Given the description of an element on the screen output the (x, y) to click on. 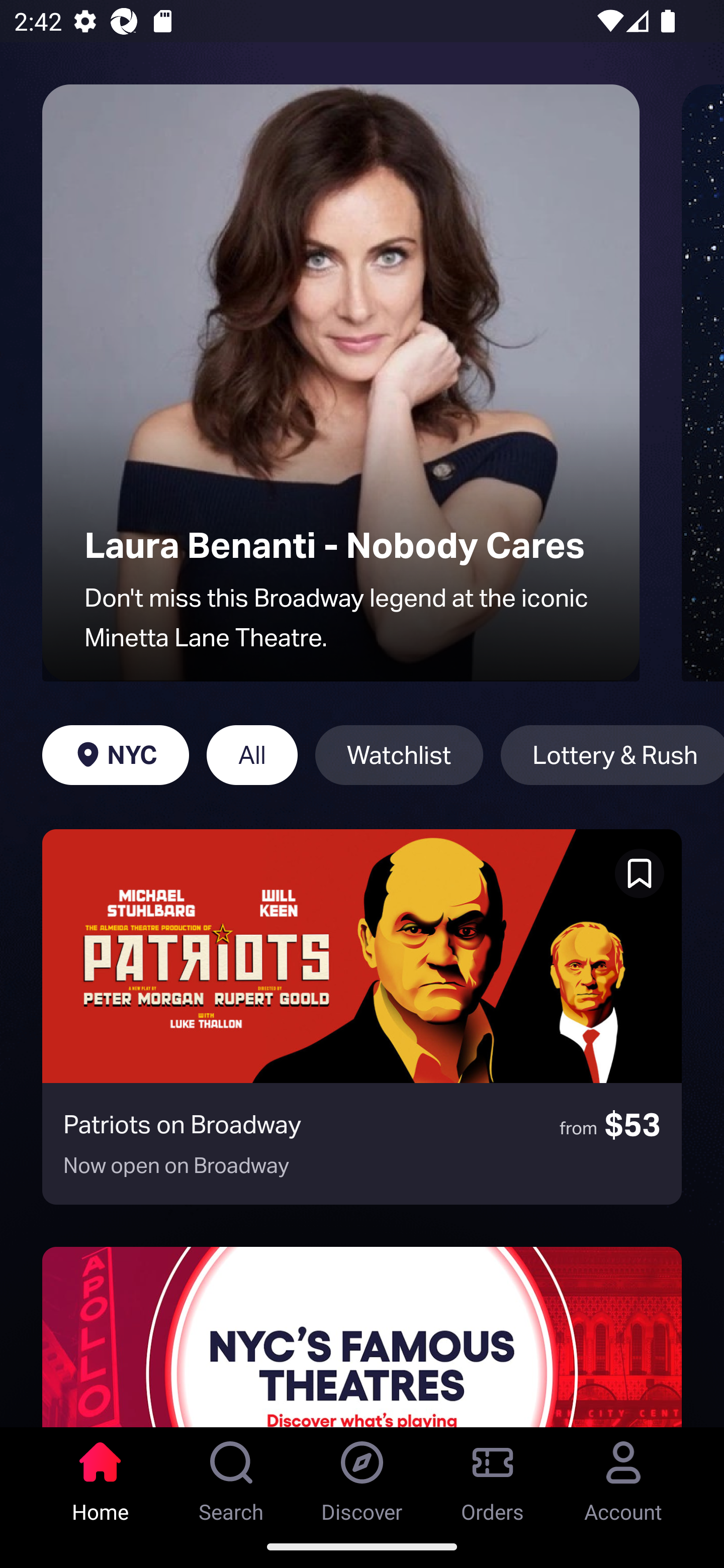
NYC (114, 754)
All (251, 754)
Watchlist (398, 754)
Lottery & Rush (612, 754)
Patriots on Broadway from $53 Now open on Broadway (361, 1016)
Search (230, 1475)
Discover (361, 1475)
Orders (492, 1475)
Account (623, 1475)
